Given the description of an element on the screen output the (x, y) to click on. 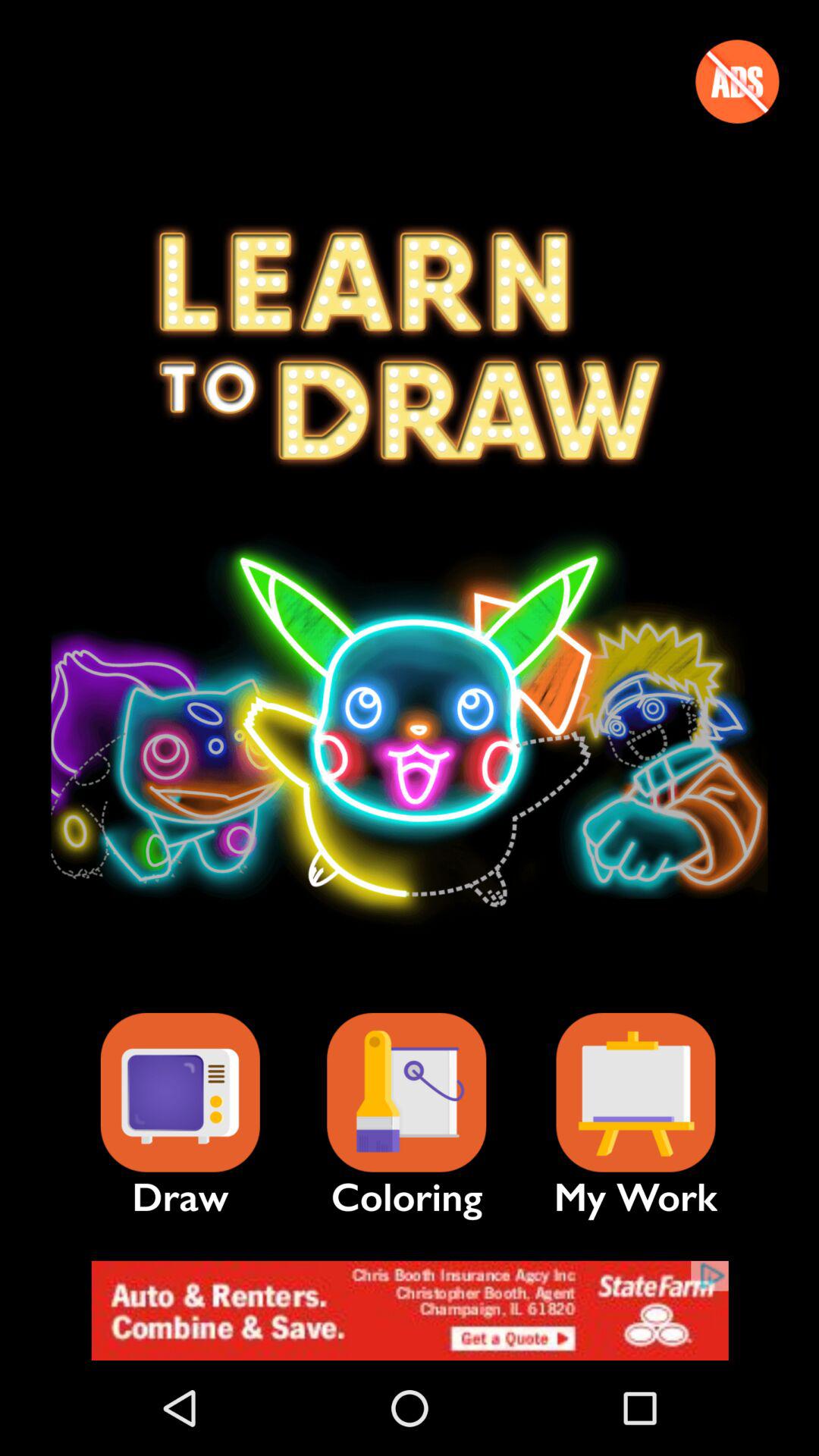
select item to the left of the my work item (406, 1092)
